Given the description of an element on the screen output the (x, y) to click on. 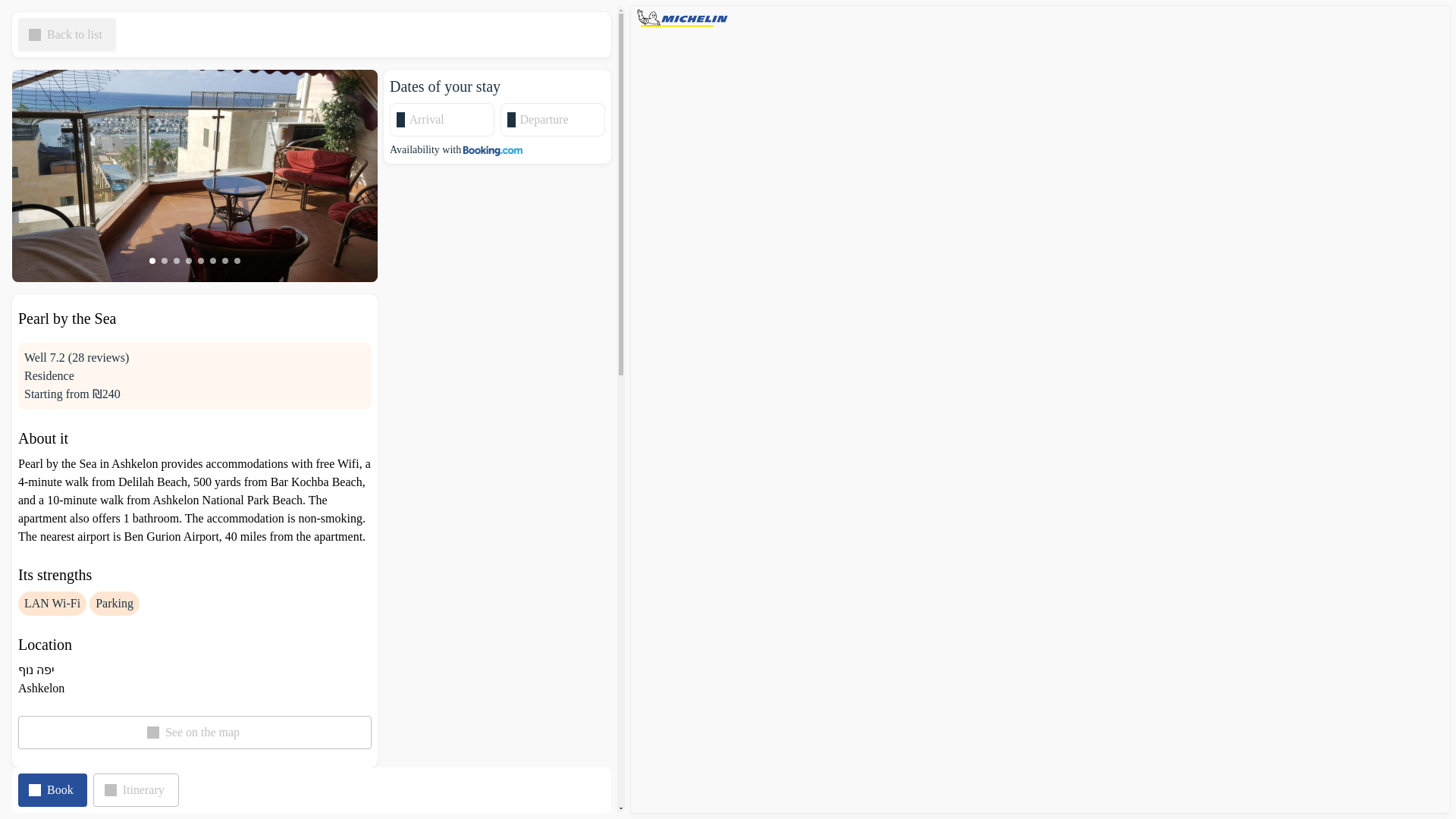
Arrival (447, 119)
See on the map (194, 732)
Book (52, 789)
Departure (558, 119)
Back to list (66, 34)
Itinerary (136, 789)
